Given the description of an element on the screen output the (x, y) to click on. 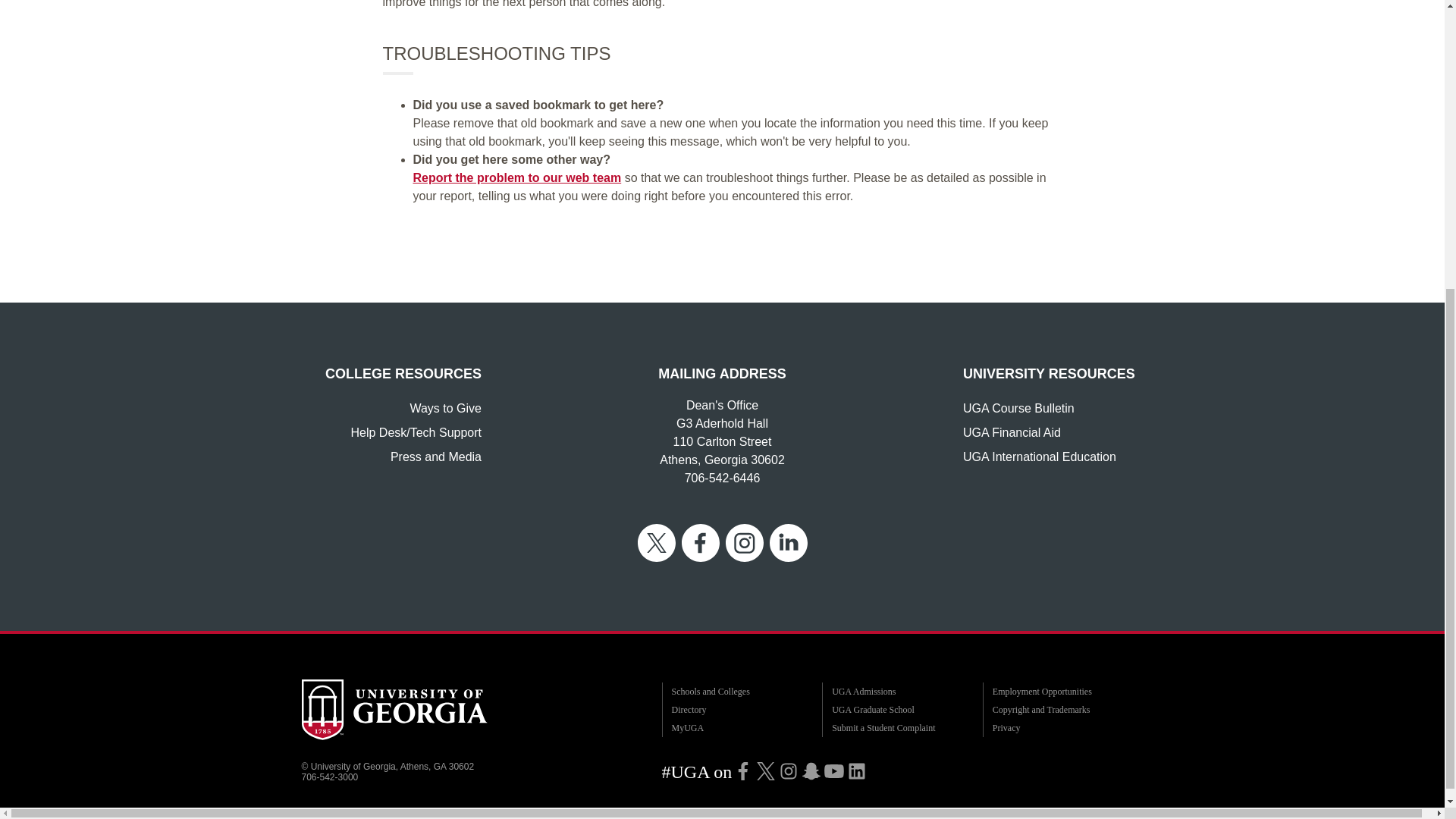
YouTube (833, 770)
LinkedIn (856, 770)
Instagram (788, 770)
Twitter (765, 770)
Snapchat (810, 770)
Facebook (743, 770)
